Given the description of an element on the screen output the (x, y) to click on. 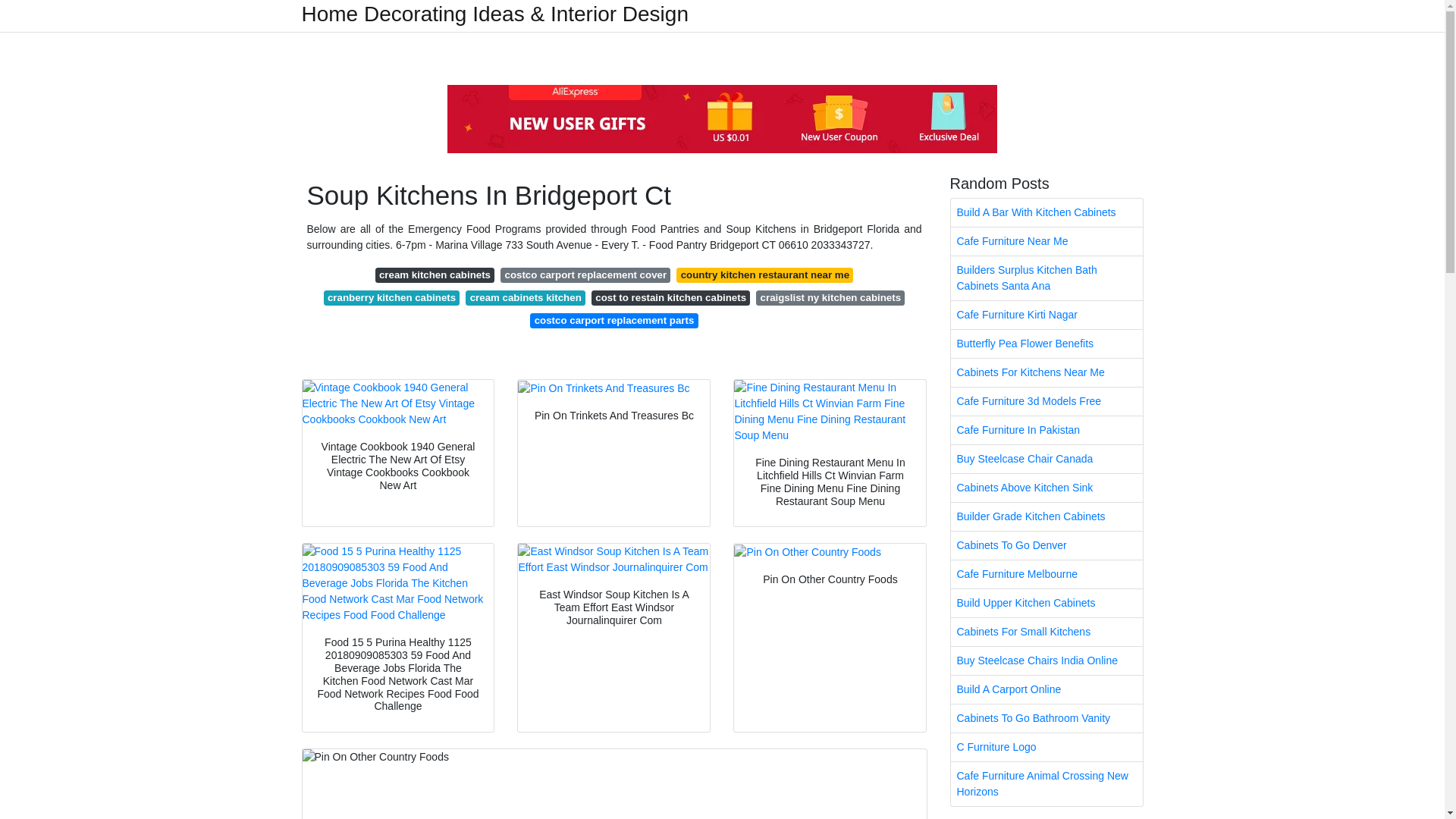
cranberry kitchen cabinets (391, 297)
cream cabinets kitchen (525, 297)
Build A Bar With Kitchen Cabinets (1046, 212)
cost to restain kitchen cabinets (670, 297)
Cafe Furniture Near Me (1046, 241)
Cafe Furniture 3d Models Free (1046, 401)
Butterfly Pea Flower Benefits (1046, 343)
Cafe Furniture In Pakistan (1046, 430)
costco carport replacement cover (584, 274)
Cabinets For Kitchens Near Me (1046, 372)
